Given the description of an element on the screen output the (x, y) to click on. 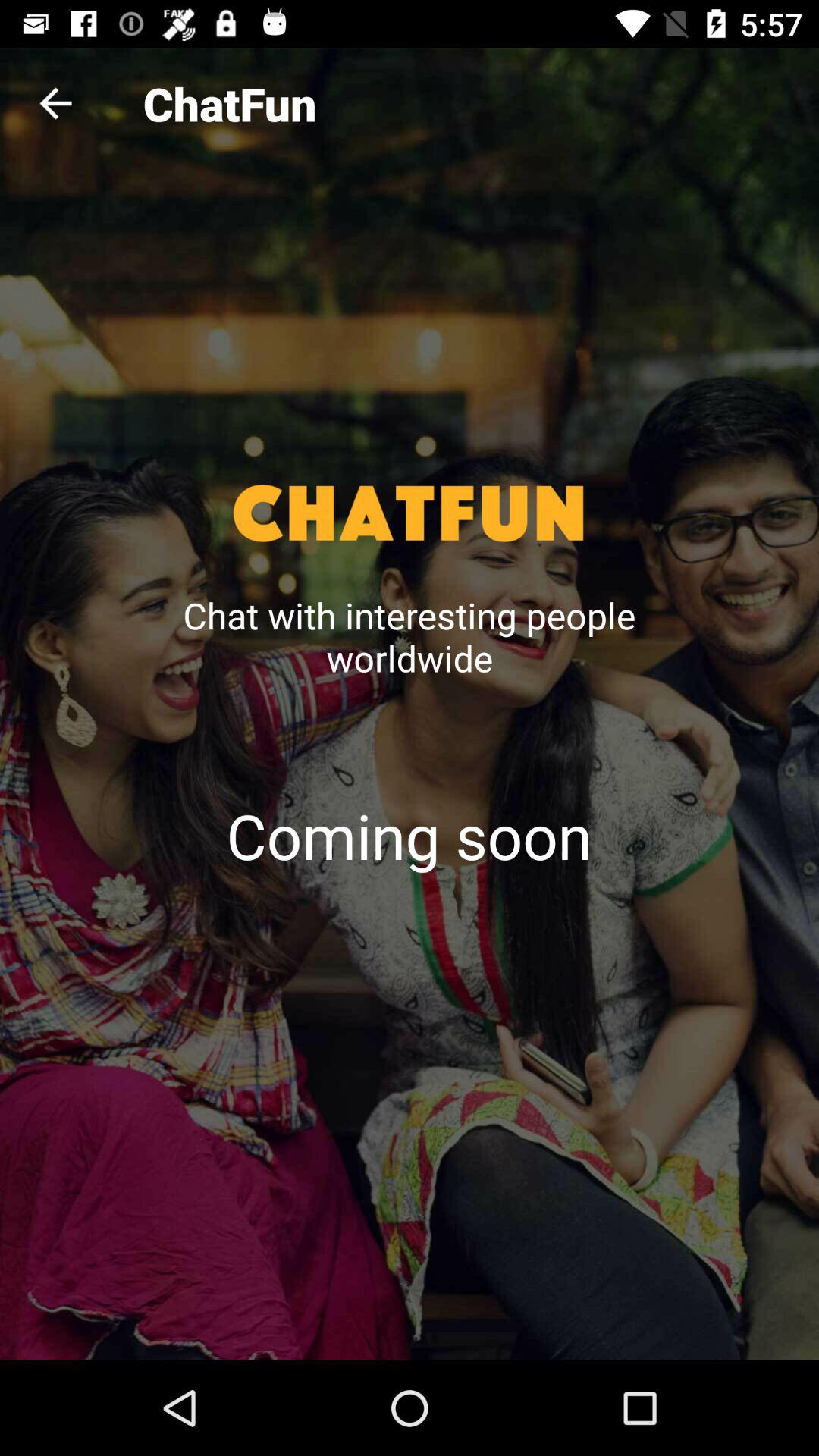
choose the icon next to the chatfun (55, 103)
